Given the description of an element on the screen output the (x, y) to click on. 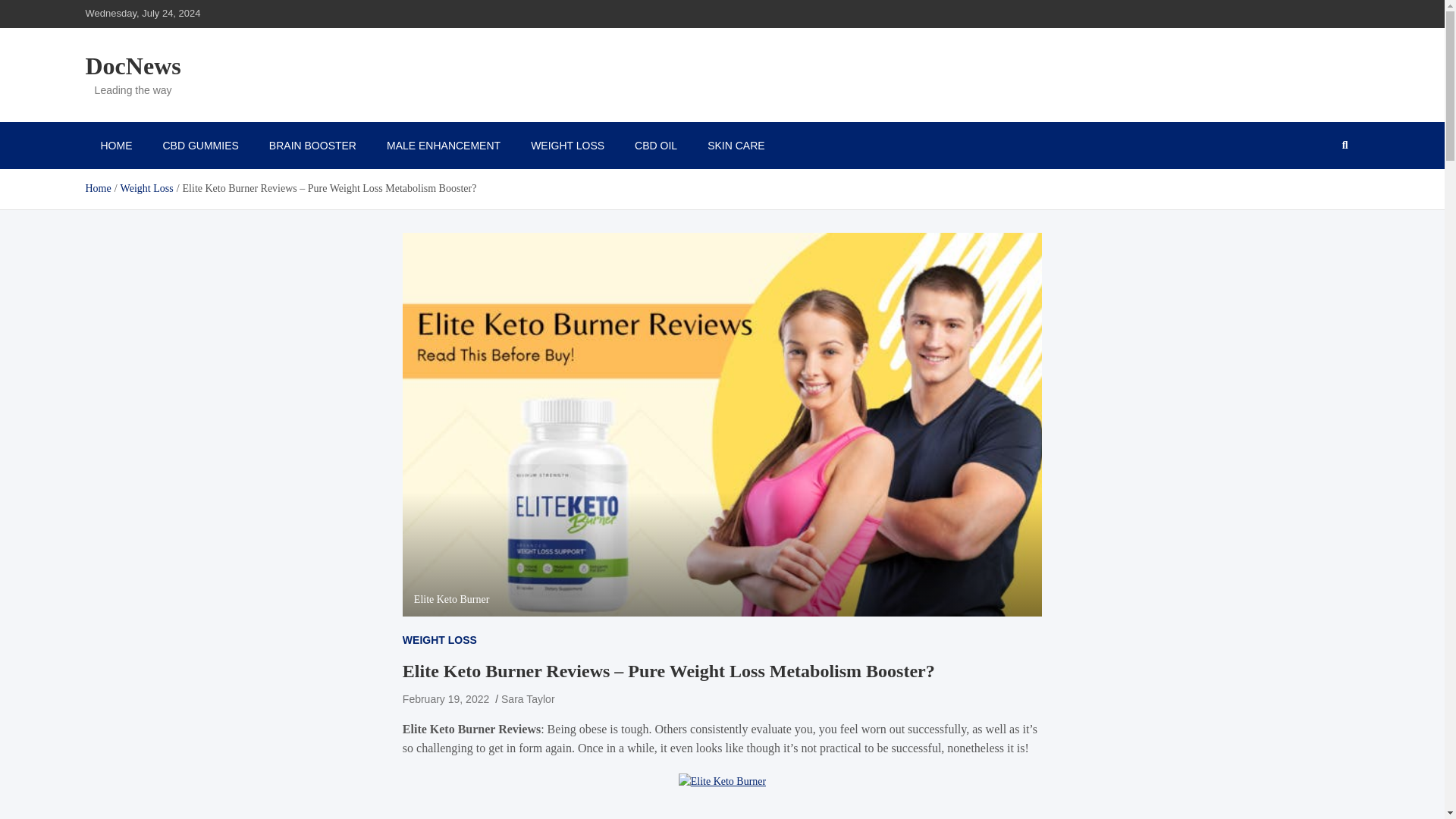
WEIGHT LOSS (567, 145)
HOME (115, 145)
SKIN CARE (735, 145)
CBD GUMMIES (200, 145)
Sara Taylor (527, 698)
CBD OIL (656, 145)
Elite Keto Burner (722, 781)
DocNews (132, 65)
MALE ENHANCEMENT (443, 145)
BRAIN BOOSTER (312, 145)
February 19, 2022 (446, 698)
WEIGHT LOSS (440, 639)
Elite Keto Burner Reviews (471, 728)
Weight Loss (146, 188)
Home (97, 188)
